Given the description of an element on the screen output the (x, y) to click on. 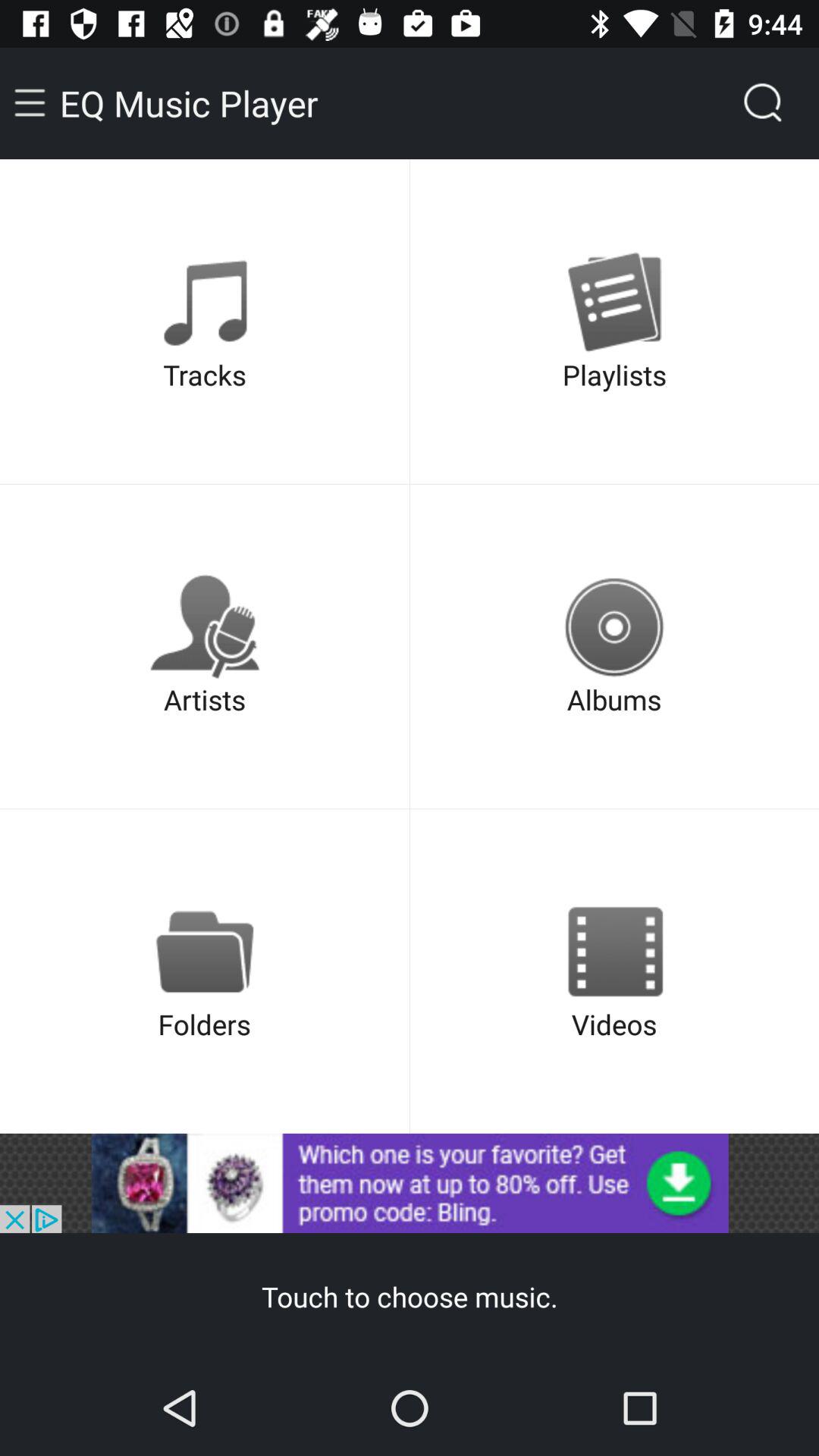
open advertisement (409, 1183)
